Given the description of an element on the screen output the (x, y) to click on. 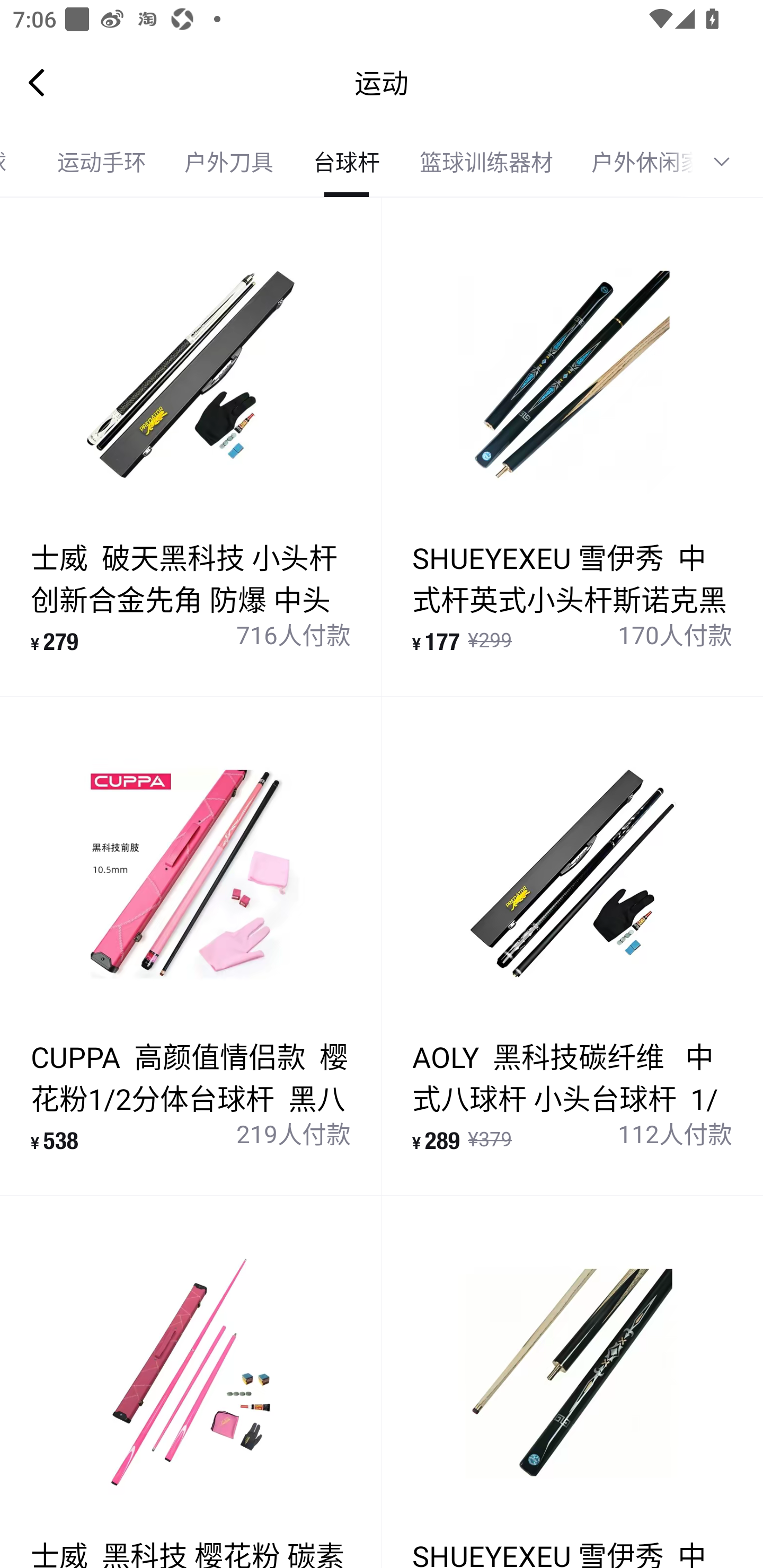
Navigate up (36, 82)
运动手环 (101, 162)
户外刀具 (228, 162)
台球杆 (346, 162)
篮球训练器材 (486, 162)
 (727, 162)
